Given the description of an element on the screen output the (x, y) to click on. 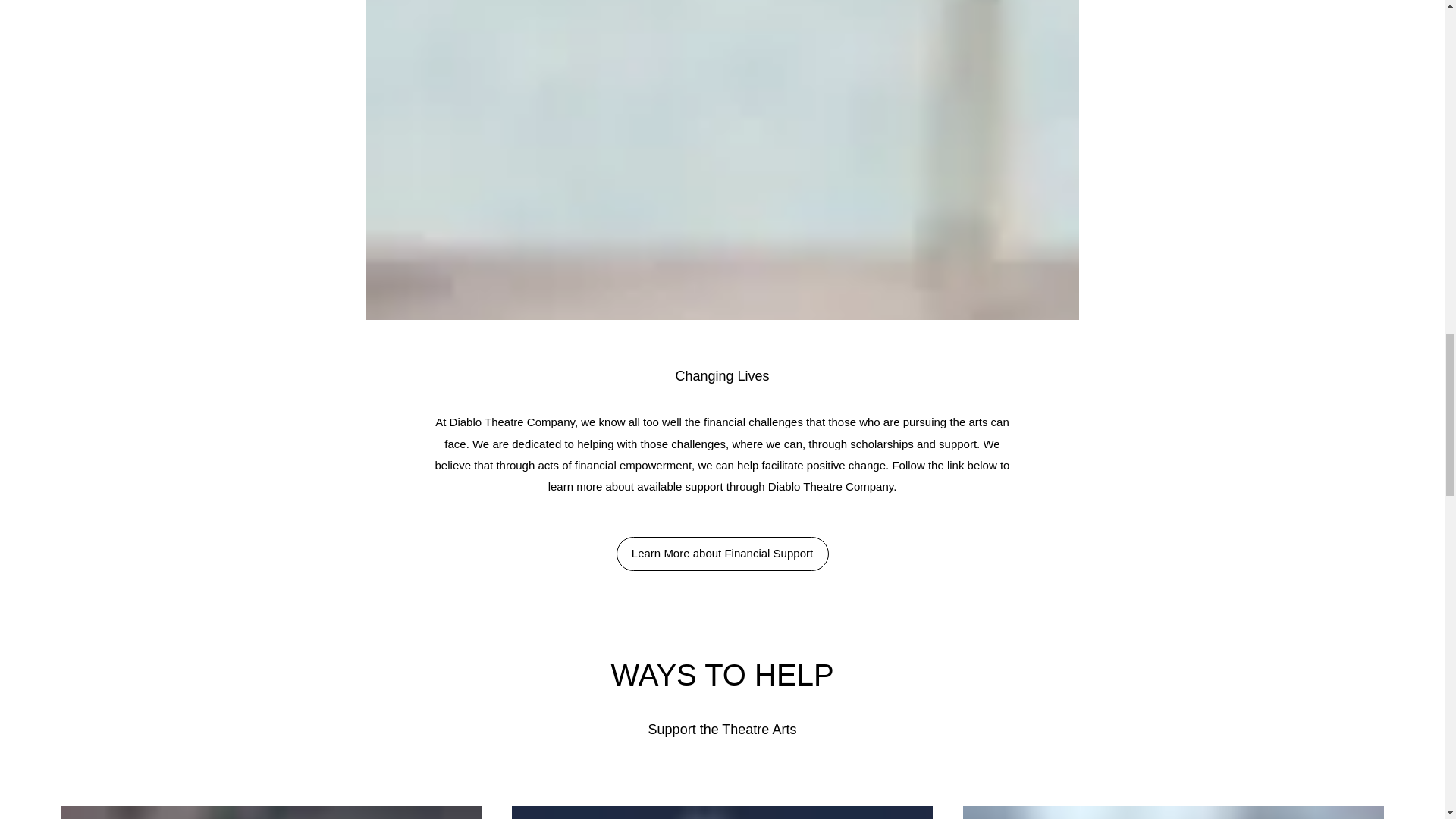
Learn More about Financial Support (721, 553)
